Given the description of an element on the screen output the (x, y) to click on. 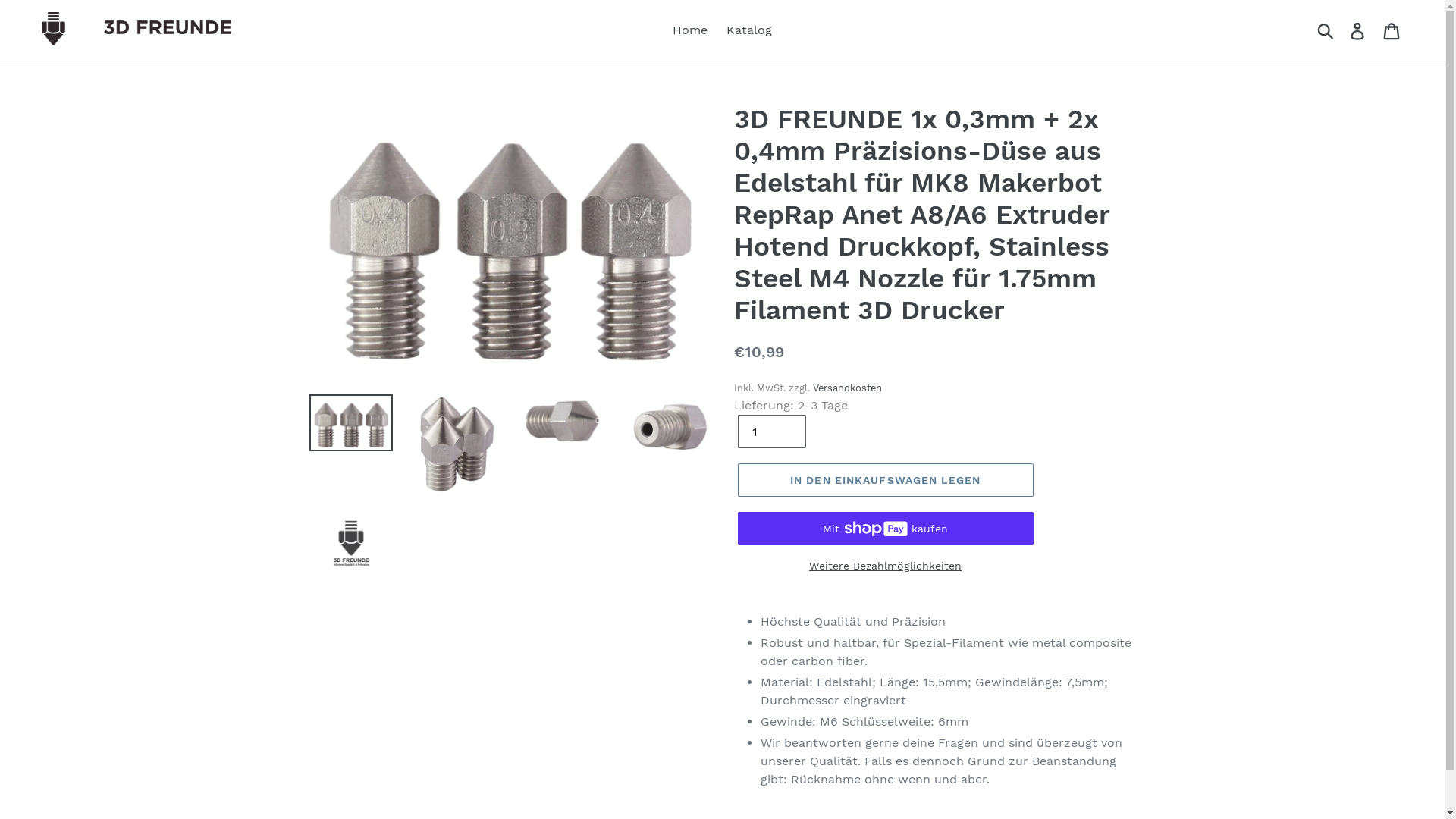
Versandkosten Element type: text (846, 387)
Katalog Element type: text (748, 29)
Suchen Element type: text (1326, 30)
Einkaufswagen Element type: text (1392, 30)
Einloggen Element type: text (1358, 30)
IN DEN EINKAUFSWAGEN LEGEN Element type: text (884, 479)
Home Element type: text (690, 29)
